Given the description of an element on the screen output the (x, y) to click on. 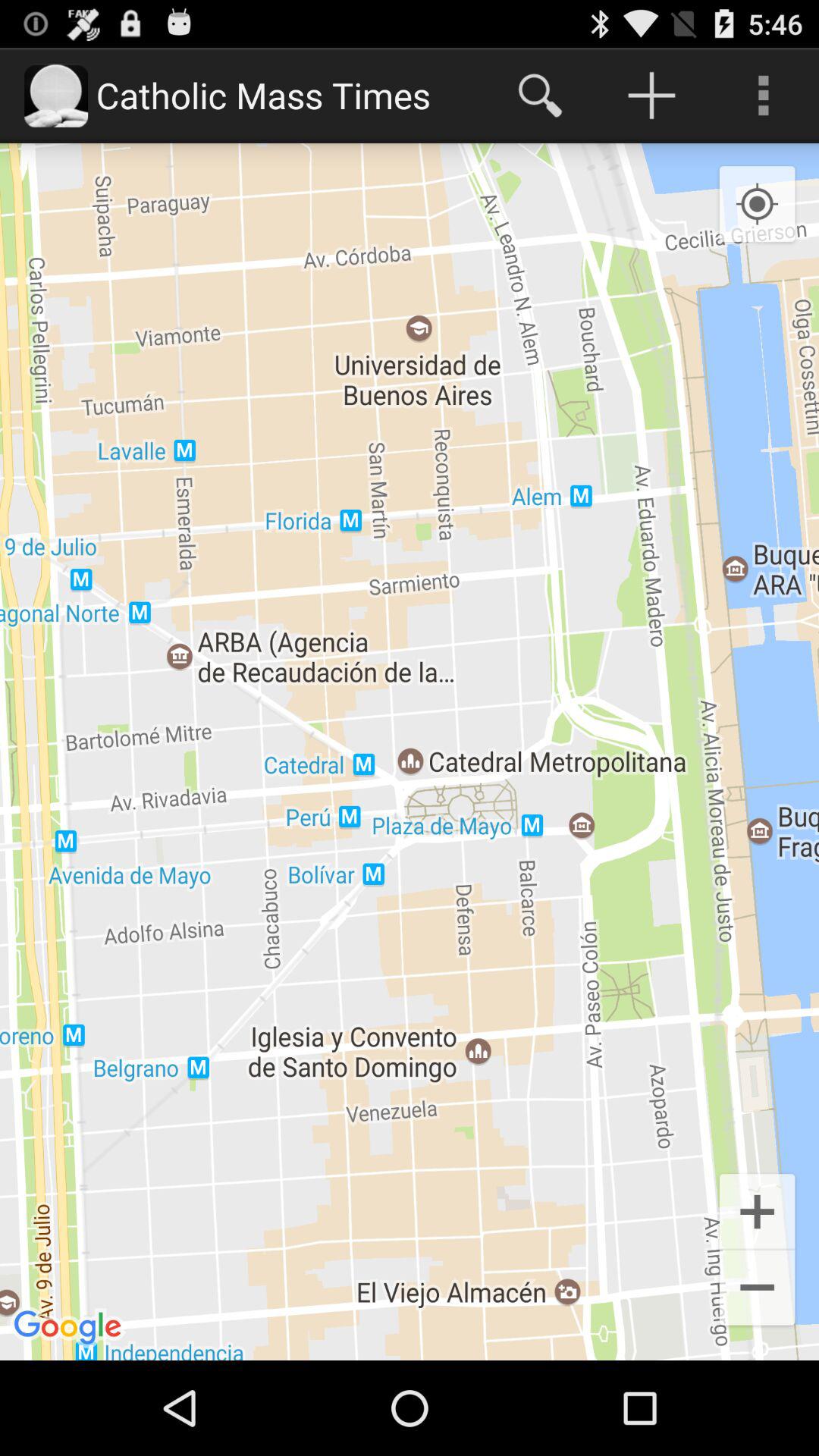
turn off icon to the right of catholic mass times item (540, 95)
